Given the description of an element on the screen output the (x, y) to click on. 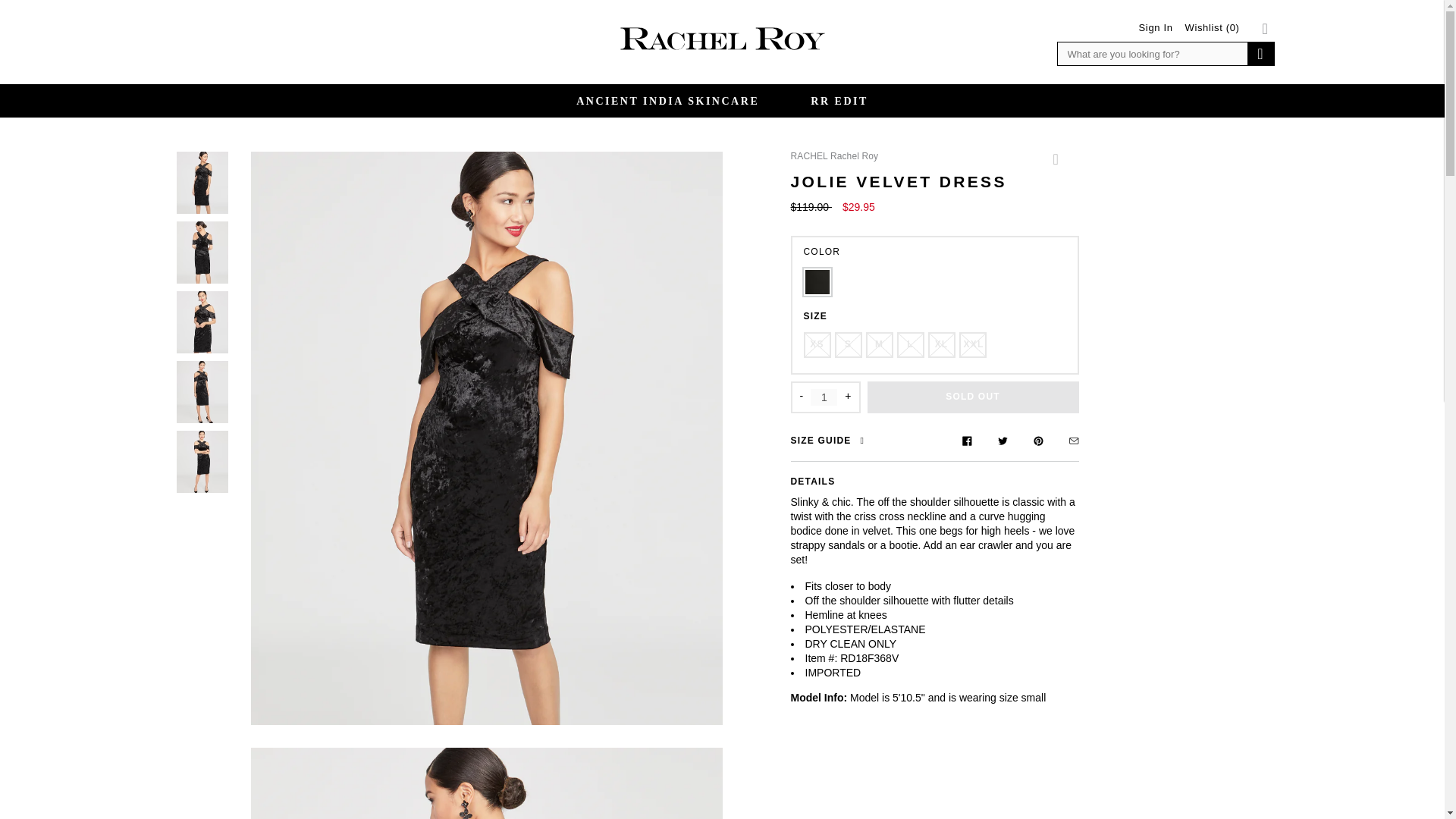
SOLD OUT (972, 397)
Size Guide (829, 442)
Sign In (1155, 27)
1 (823, 397)
RR EDIT (838, 100)
ANCIENT INDIA SKINCARE (667, 100)
SIZE GUIDE (829, 442)
Search (1259, 53)
